Given the description of an element on the screen output the (x, y) to click on. 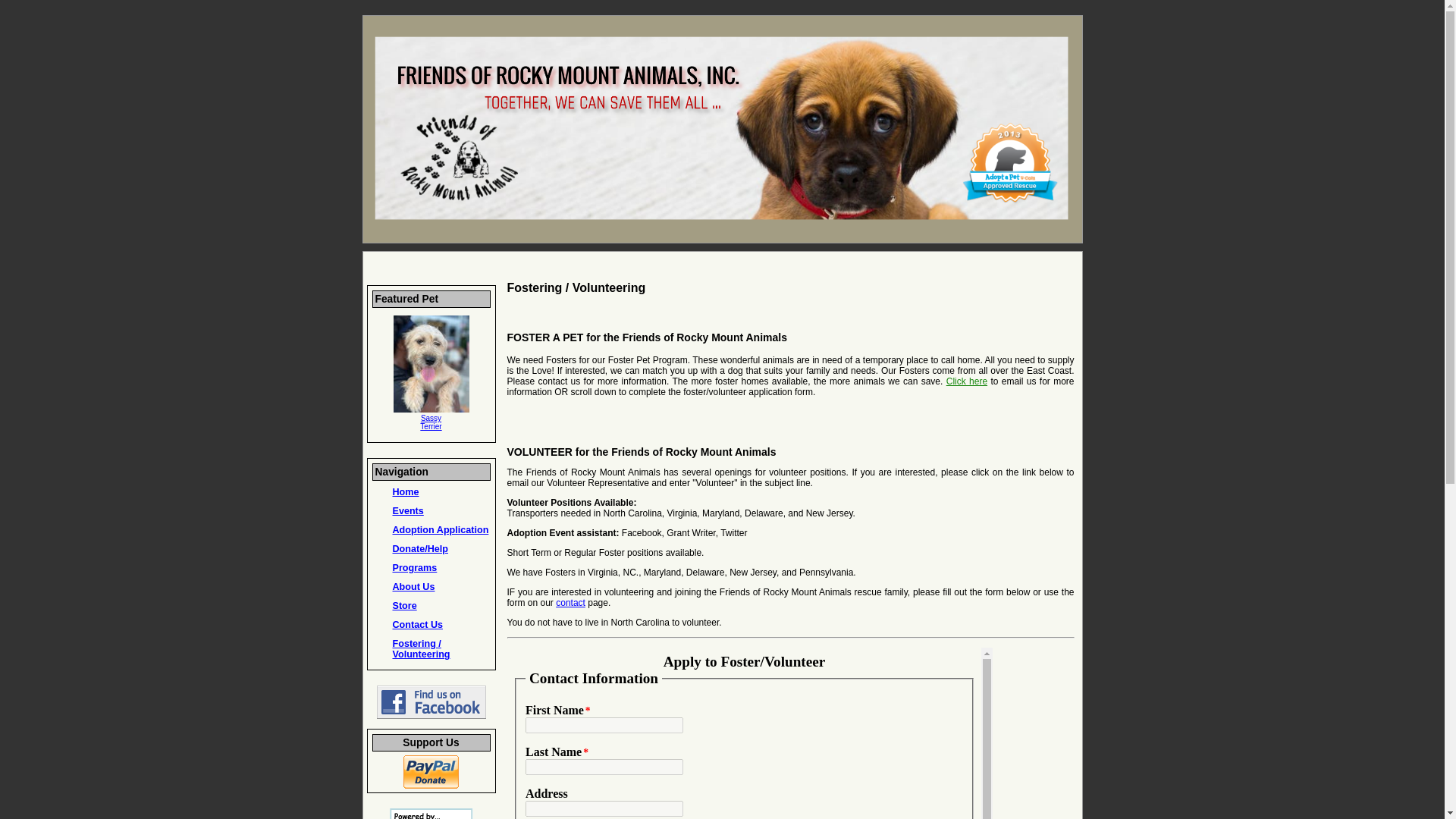
Programs (415, 567)
Events (408, 511)
Store (404, 605)
Contact Us (417, 624)
Home (406, 491)
Click here (430, 422)
About Us (966, 380)
Friends of Rocky Mount Animals on Facebook (414, 586)
Adoption Application (429, 715)
contact (441, 529)
